Given the description of an element on the screen output the (x, y) to click on. 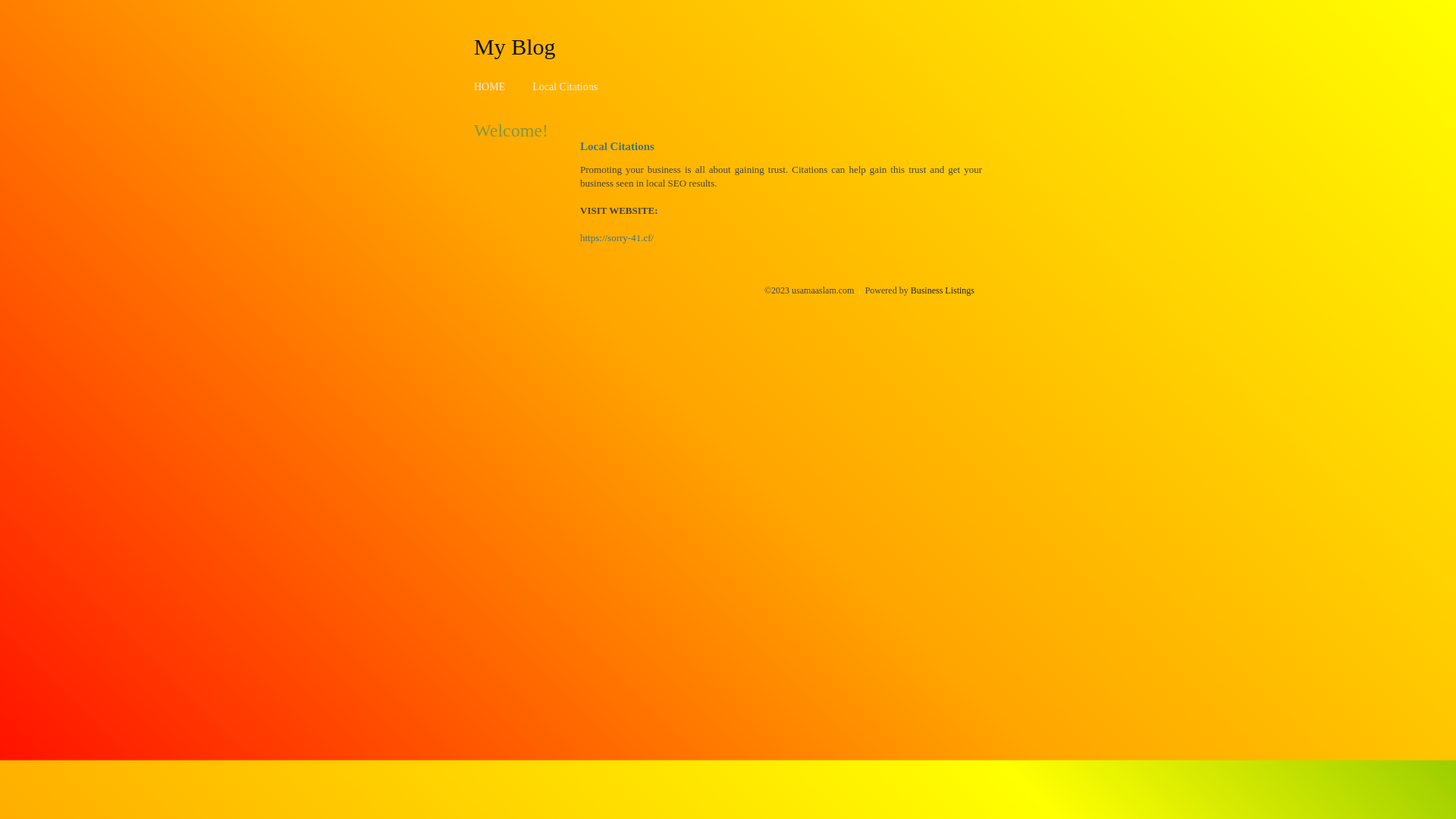
Business Listings Element type: text (942, 290)
My Blog Element type: text (514, 46)
https://sorry-41.cf/ Element type: text (616, 237)
Local Citations Element type: text (564, 86)
HOME Element type: text (489, 86)
